Given the description of an element on the screen output the (x, y) to click on. 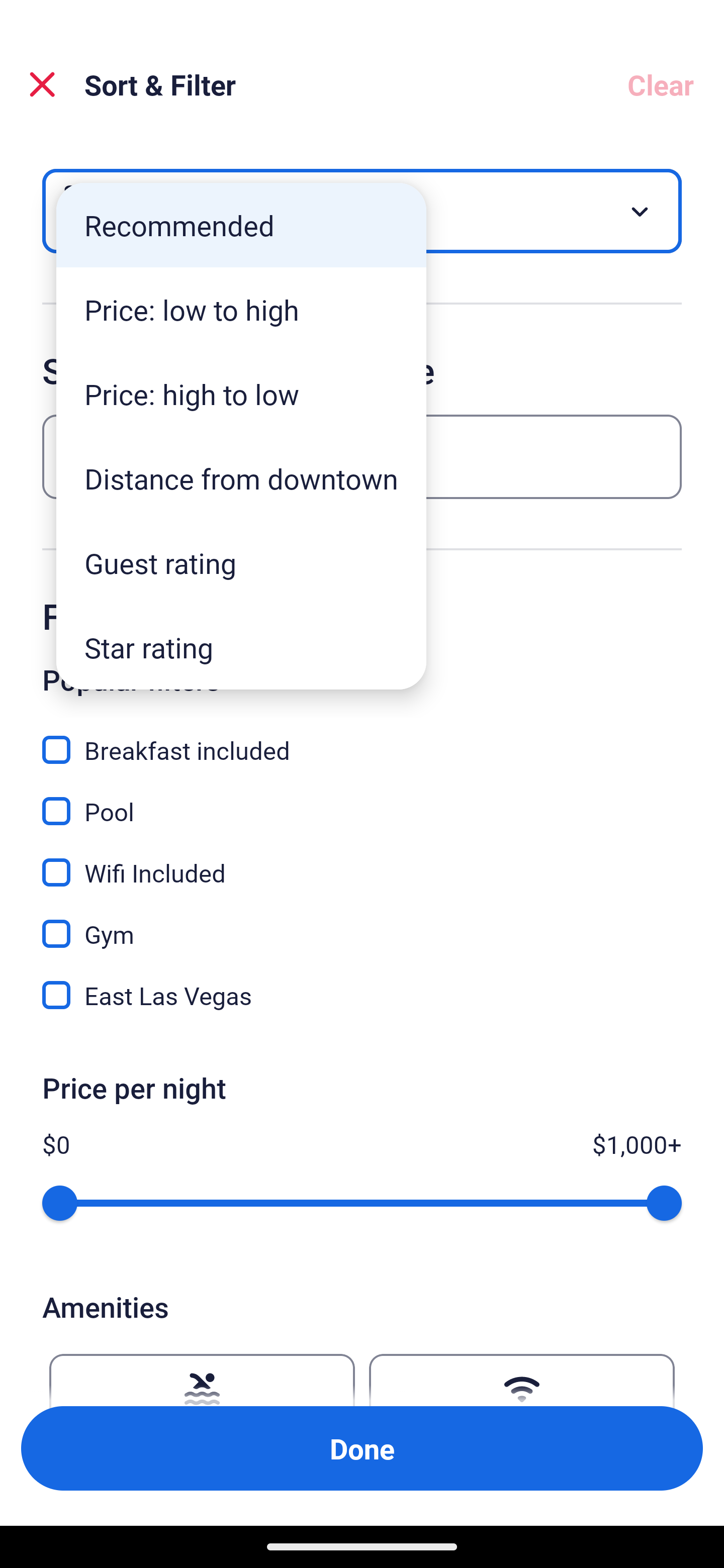
Price: low to high (241, 309)
Price: high to low (241, 393)
Distance from downtown (241, 477)
Guest rating (241, 562)
Star rating (241, 647)
